Given the description of an element on the screen output the (x, y) to click on. 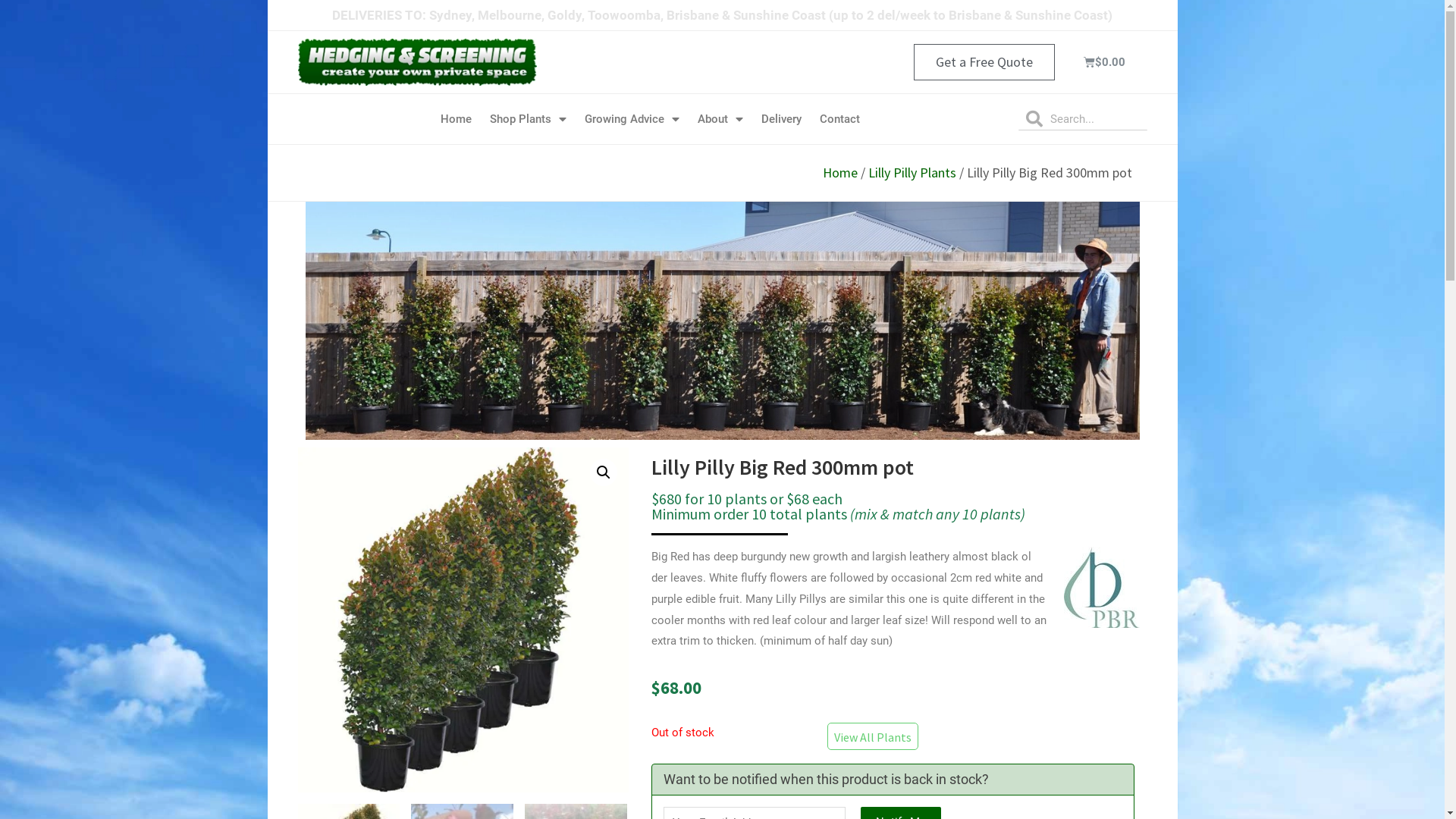
Home Element type: text (839, 172)
Lilly Pilly Plants Element type: text (911, 172)
Contact Element type: text (839, 118)
Lilly-Pilly-Big-Red-300mm Element type: hover (462, 619)
Delivery Element type: text (781, 118)
Get a Free Quote Element type: text (983, 61)
Home Element type: text (455, 118)
Growing Advice Element type: text (631, 118)
$0.00 Element type: text (1106, 62)
View All Plants Element type: text (872, 735)
Shop Plants Element type: text (527, 118)
Search Element type: hover (1094, 118)
About Element type: text (720, 118)
